Given the description of an element on the screen output the (x, y) to click on. 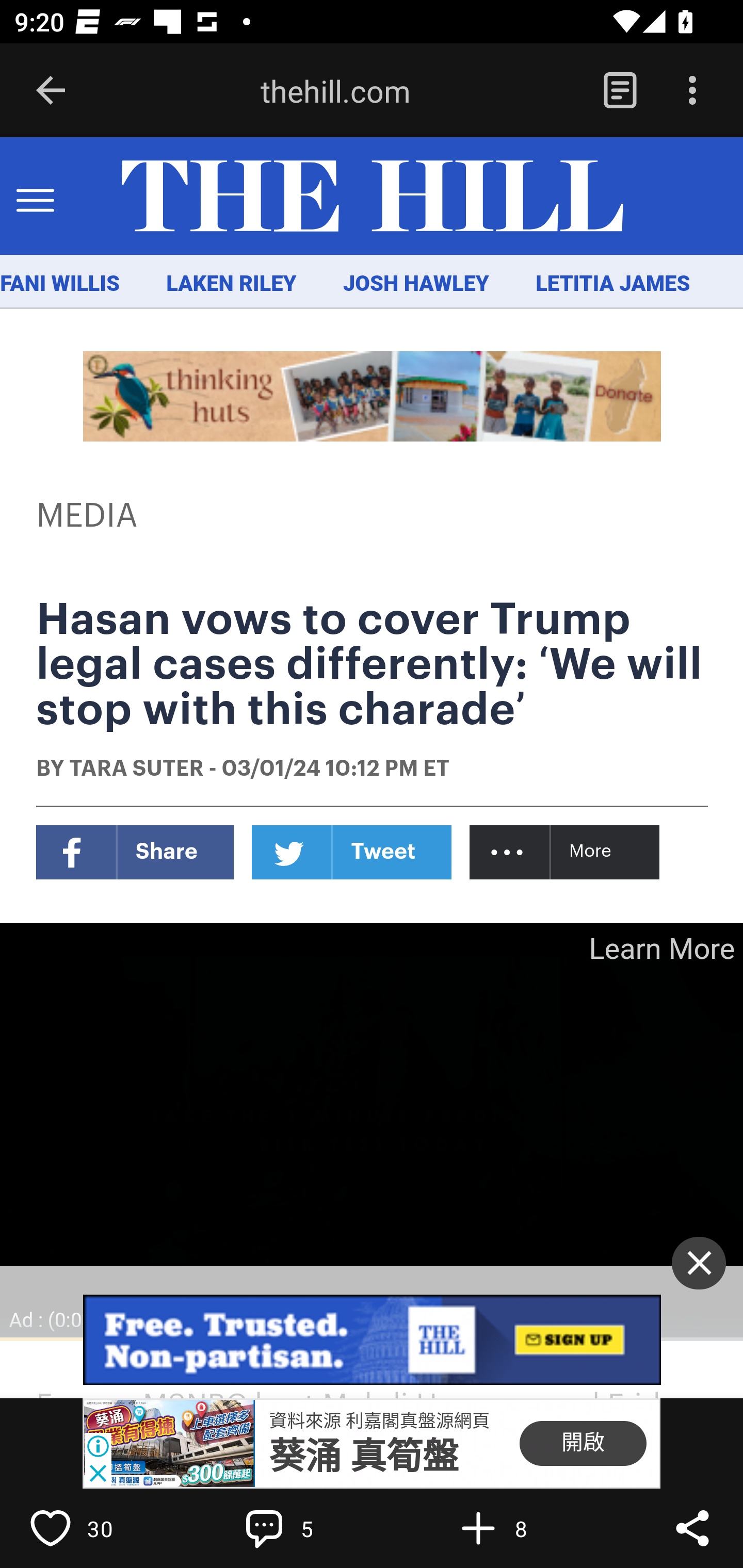
Back (50, 90)
Reader View (619, 90)
Options (692, 90)
Toggle Menu (34, 196)
TheHill.com (371, 196)
FANI WILLIS (60, 284)
LAKEN RILEY (231, 284)
JOSH HAWLEY (414, 284)
LETITIA JAMES (612, 284)
Advertisement (372, 395)
MEDIA (87, 516)
TARA SUTER (135, 769)
Facebook Share Facebook Share (135, 852)
Twitter Tweet Twitter Tweet (352, 852)
... More (565, 852)
Learn More (660, 948)
✕ (699, 1262)
signup (372, 1339)
B29955179 (168, 1443)
資料來源 利嘉閣真盤源網頁 (379, 1420)
開啟 (582, 1443)
葵涌 真筍盤 (363, 1456)
Like 30 (93, 1528)
Write a comment… 5 (307, 1528)
Flip into Magazine 8 (521, 1528)
Share (692, 1528)
